Given the description of an element on the screen output the (x, y) to click on. 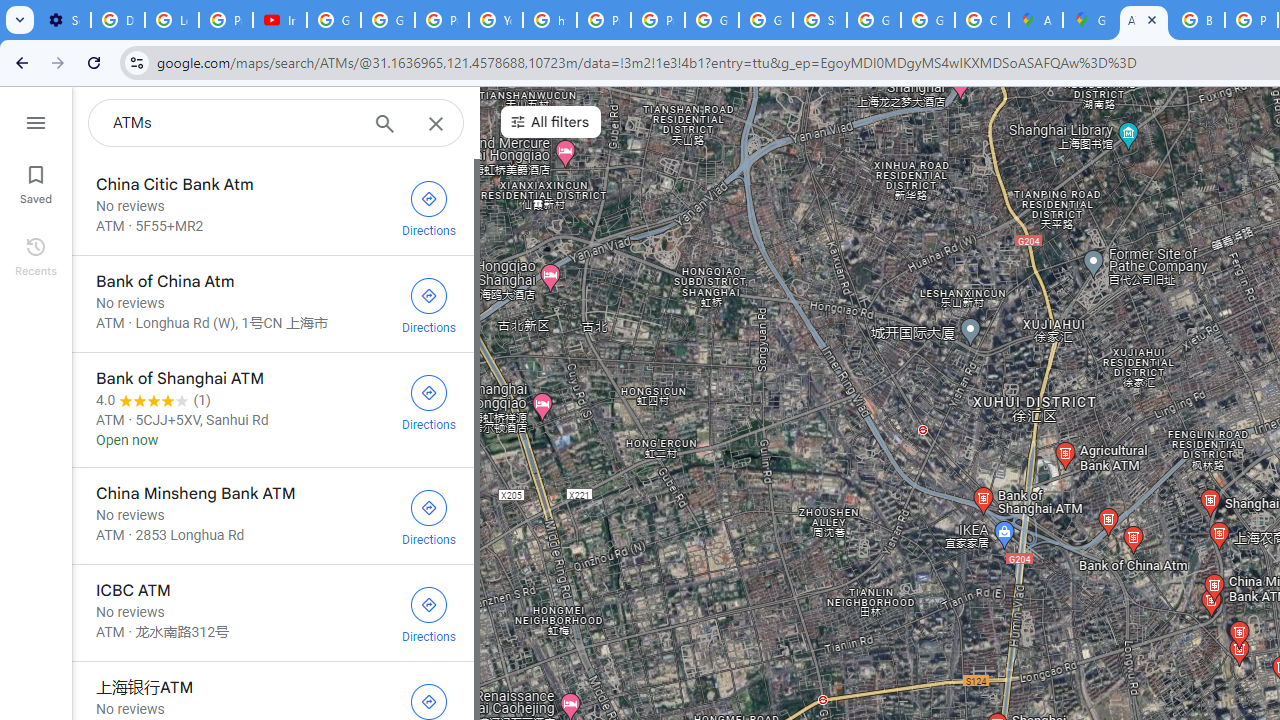
Introduction | Google Privacy Policy - YouTube (280, 20)
Bank of China Atm (272, 304)
Recents (35, 254)
ATMs - Google Maps (1144, 20)
Delete photos & videos - Computer - Google Photos Help (117, 20)
Get directions to China Citic Bank Atm (429, 206)
Get directions to Bank of Shanghai ATM (429, 400)
Get directions to ICBC ATM (429, 613)
ICBC ATM (272, 612)
Settings - Customize profile (63, 20)
Menu (35, 120)
